Given the description of an element on the screen output the (x, y) to click on. 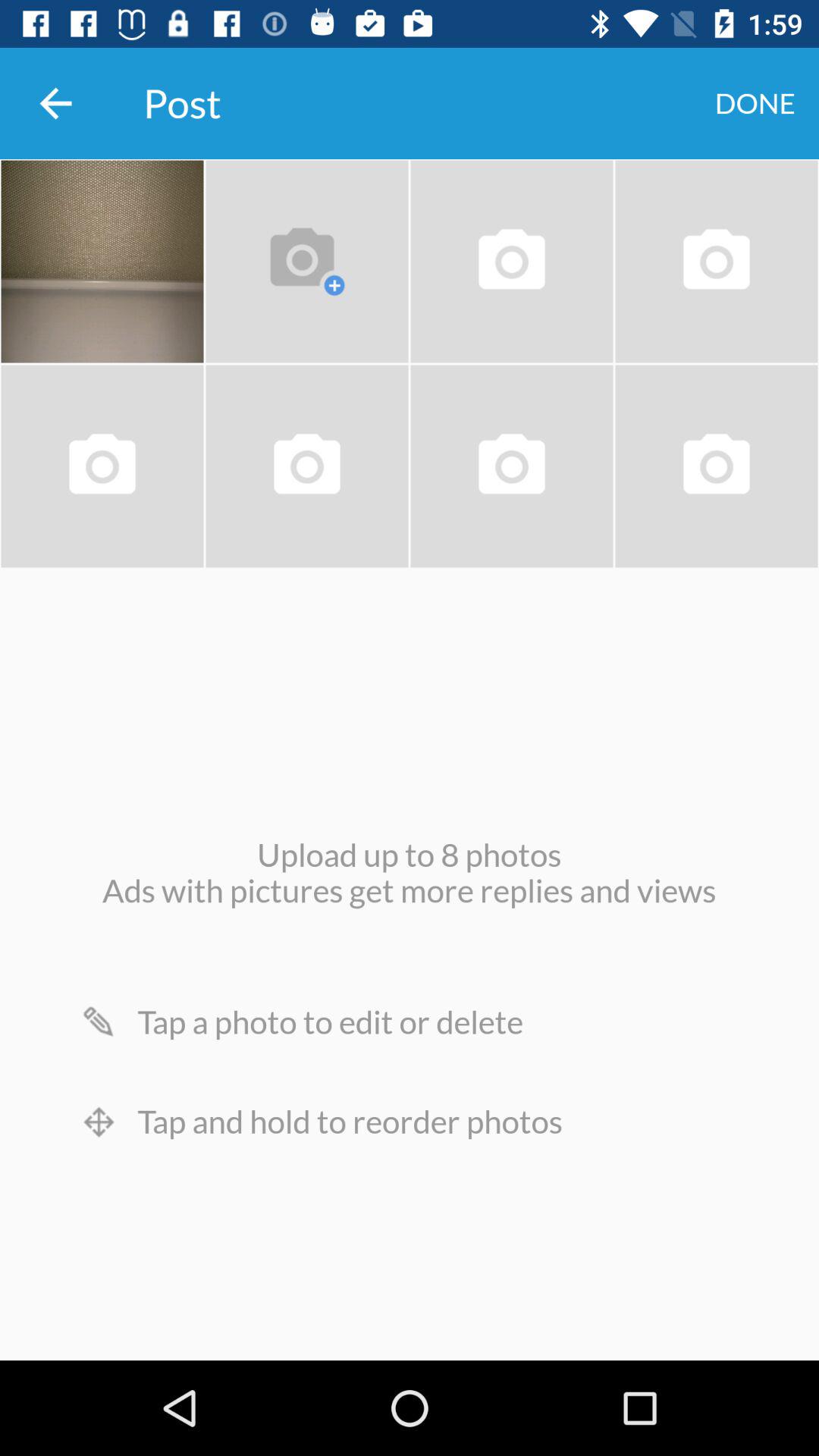
flip to done icon (755, 103)
